Given the description of an element on the screen output the (x, y) to click on. 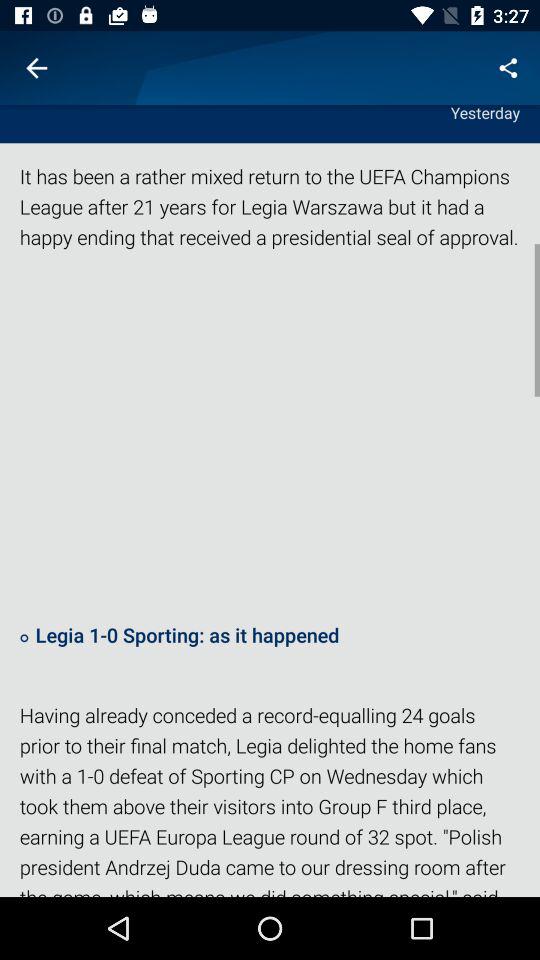
turn on the icon at the top right corner (508, 67)
